Given the description of an element on the screen output the (x, y) to click on. 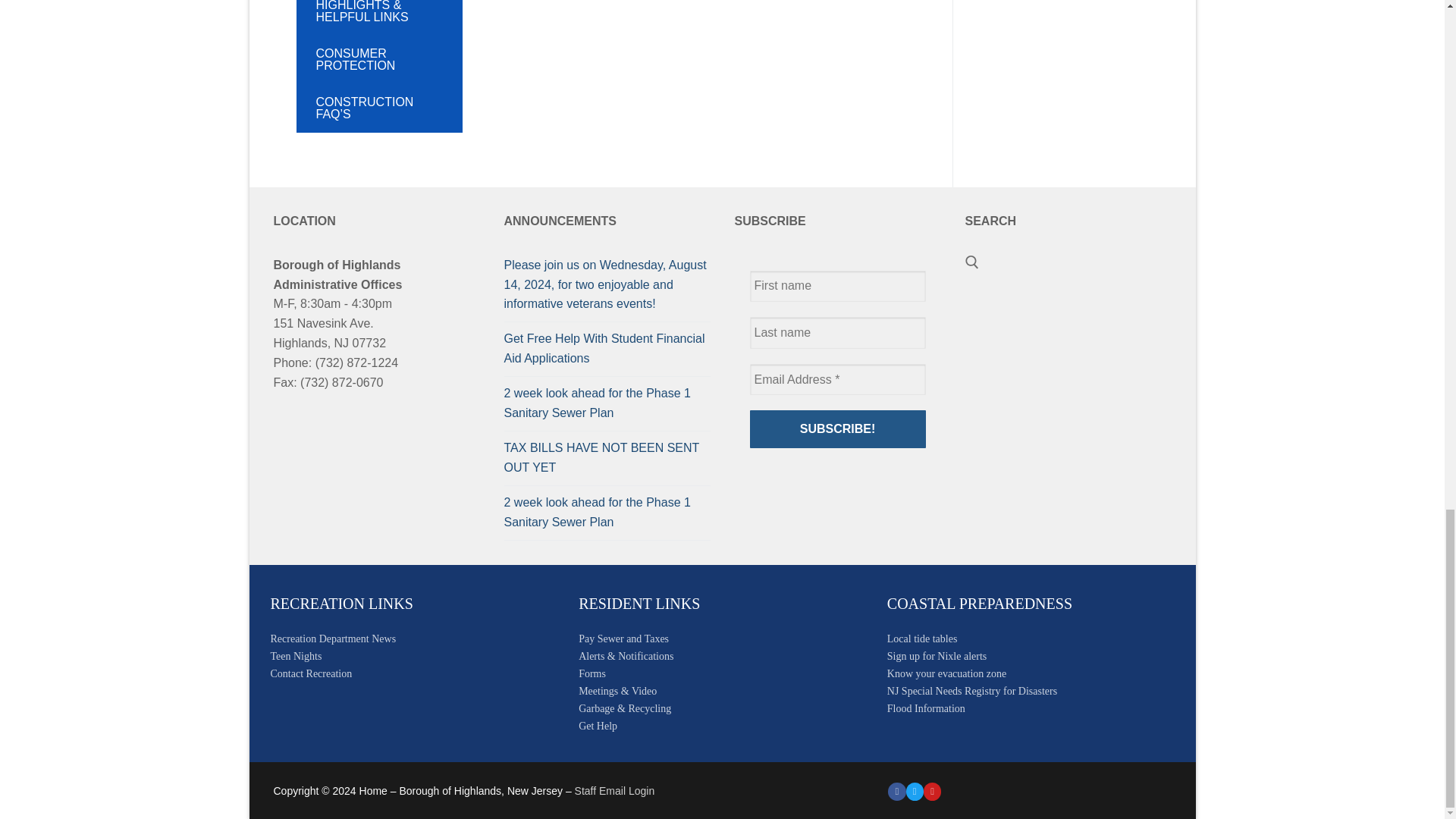
Email Address (836, 379)
Youtube (932, 791)
Last name (836, 332)
First name (836, 286)
Facebook (896, 791)
Twitter (915, 791)
Subscribe! (836, 428)
